Given the description of an element on the screen output the (x, y) to click on. 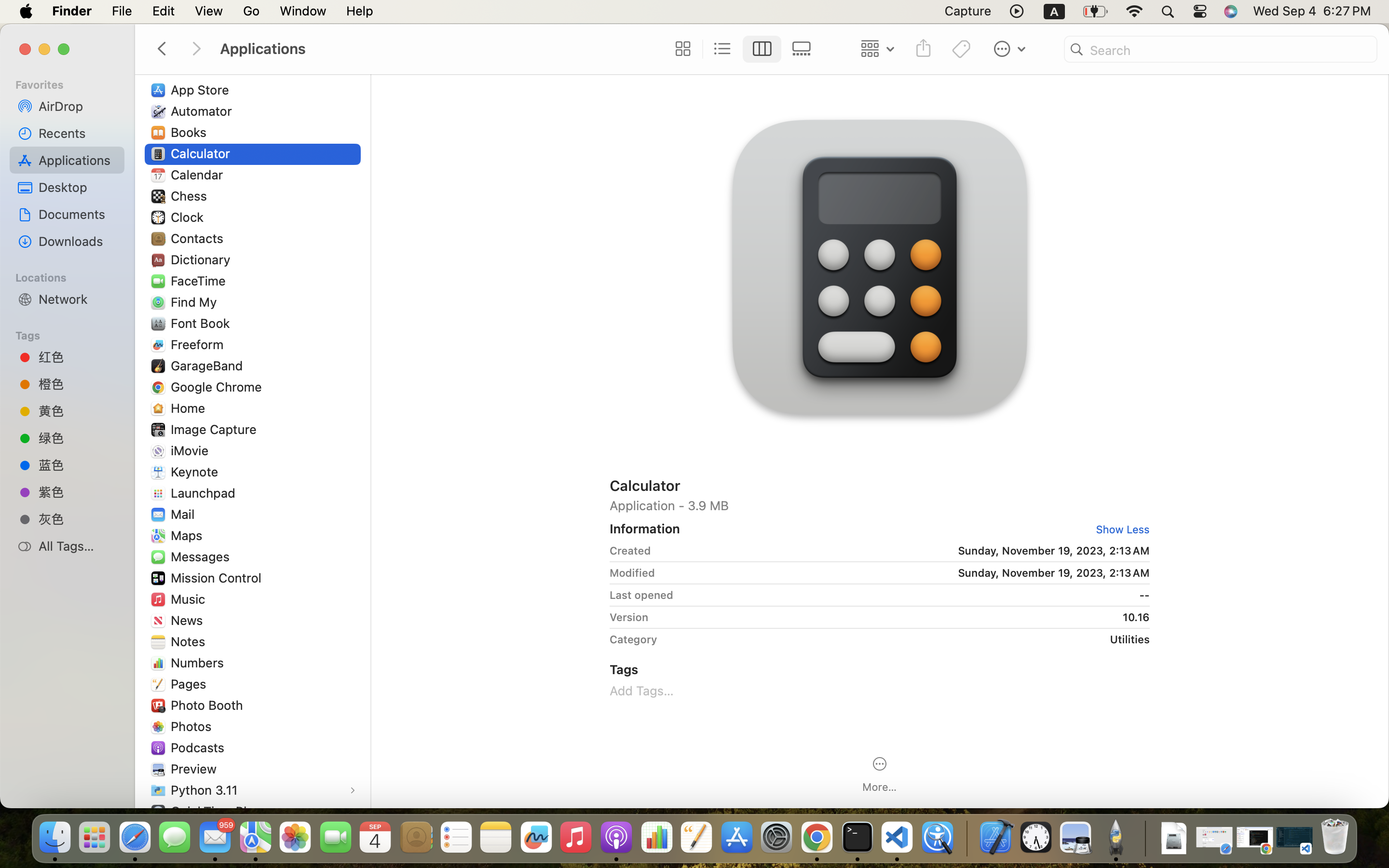
Mail Element type: AXTextField (184, 513)
Maps Element type: AXTextField (188, 534)
Information Element type: AXStaticText (644, 528)
Recents Element type: AXStaticText (77, 132)
Downloads Element type: AXStaticText (77, 240)
